Given the description of an element on the screen output the (x, y) to click on. 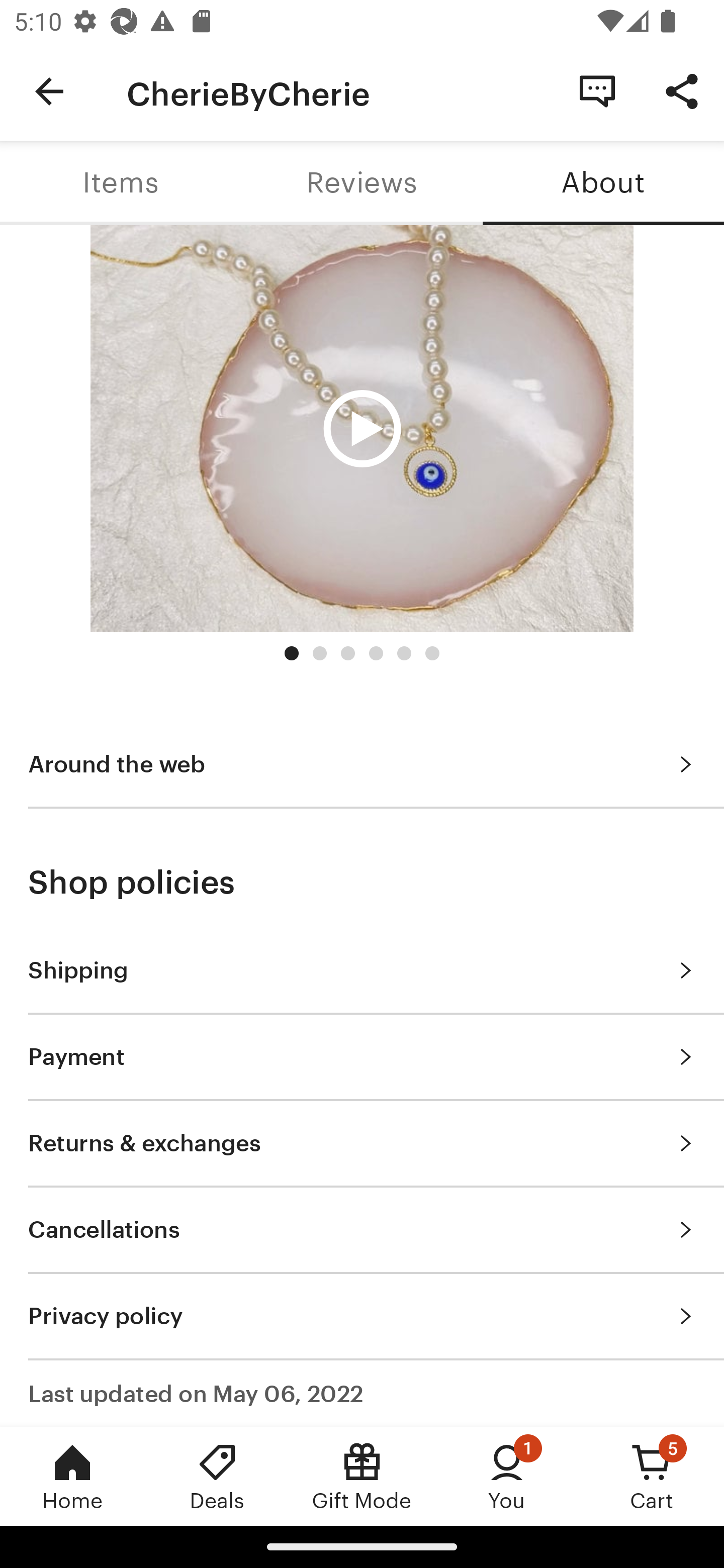
Navigate up (49, 91)
Contact Shop (597, 90)
Share (681, 90)
Items (120, 183)
Reviews (361, 183)
Shop video (362, 428)
Around the web (362, 763)
Shipping (362, 970)
Payment (362, 1056)
Returns & exchanges (362, 1142)
Cancellations (362, 1228)
Privacy policy (362, 1315)
Deals (216, 1475)
Gift Mode (361, 1475)
You, 1 new notification You (506, 1475)
Cart, 5 new notifications Cart (651, 1475)
